Given the description of an element on the screen output the (x, y) to click on. 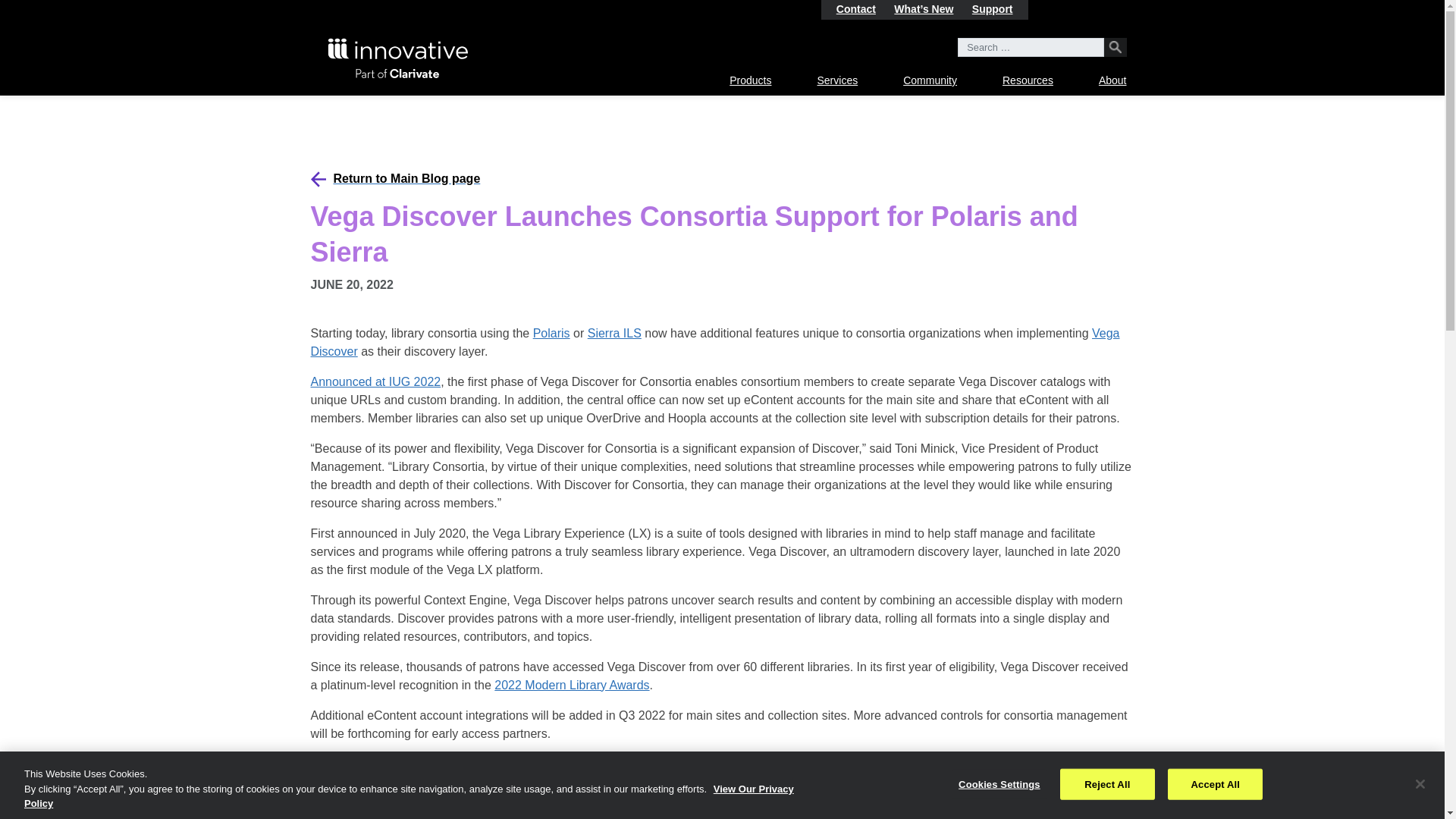
Search (1114, 46)
Search (1114, 46)
Resources (1027, 80)
Community (929, 80)
Support (992, 9)
Services (837, 80)
Search (1114, 46)
Products (750, 80)
Contact (855, 9)
About (1112, 80)
